Given the description of an element on the screen output the (x, y) to click on. 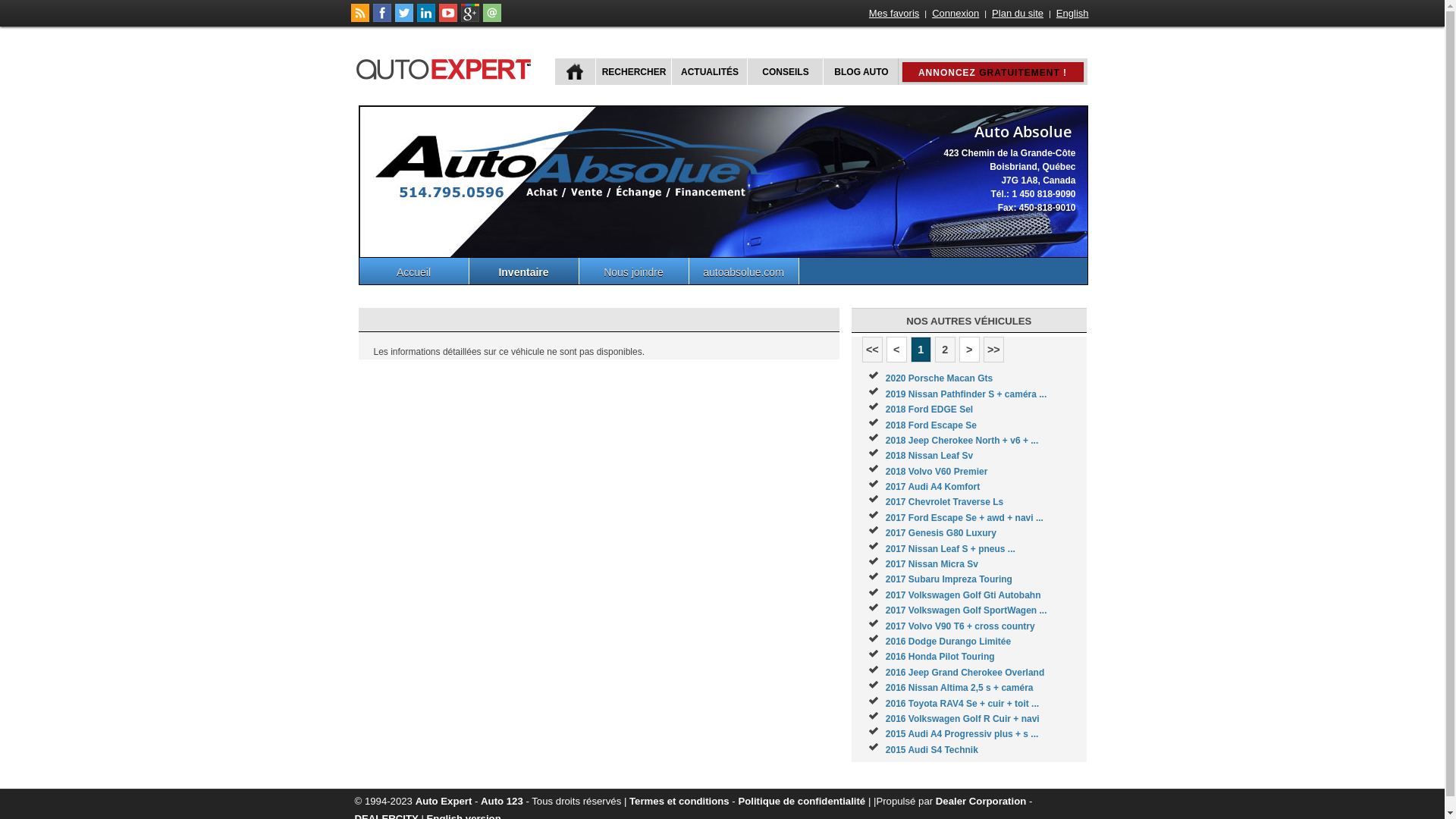
2015 Audi S4 Technik Element type: text (931, 749)
Termes et conditions Element type: text (679, 800)
Connexion Element type: text (955, 13)
2017 Subaru Impreza Touring Element type: text (948, 579)
autoabsolue.com Element type: text (743, 270)
2017 Volvo V90 T6 + cross country Element type: text (960, 626)
RECHERCHER Element type: text (631, 71)
2018 Ford EDGE Sel Element type: text (928, 409)
< Element type: text (896, 349)
Mes favoris Element type: text (893, 13)
2017 Nissan Micra Sv Element type: text (931, 563)
Auto Expert Element type: text (443, 800)
2018 Nissan Leaf Sv Element type: text (928, 455)
>> Element type: text (993, 349)
2018 Ford Escape Se Element type: text (930, 425)
2017 Volkswagen Golf SportWagen ... Element type: text (966, 610)
<< Element type: text (872, 349)
2016 Volkswagen Golf R Cuir + navi Element type: text (962, 718)
2016 Honda Pilot Touring Element type: text (939, 656)
Inventaire Element type: text (523, 270)
2 Element type: text (945, 349)
2015 Audi A4 Progressiv plus + s ... Element type: text (961, 733)
Suivez autoExpert.ca sur Google Plus Element type: hover (470, 18)
2017 Nissan Leaf S + pneus ... Element type: text (950, 548)
> Element type: text (969, 349)
Nous joindre Element type: text (634, 270)
Suivez autoExpert.ca sur Facebook Element type: hover (382, 18)
2016 Jeep Grand Cherokee Overland Element type: text (964, 672)
BLOG AUTO Element type: text (859, 71)
English Element type: text (1072, 13)
2018 Jeep Cherokee North + v6 + ... Element type: text (961, 440)
ACCUEIL Element type: text (575, 71)
2017 Genesis G80 Luxury Element type: text (940, 532)
Suivez Publications Le Guide Inc. sur LinkedIn Element type: hover (426, 18)
2016 Toyota RAV4 Se + cuir + toit ... Element type: text (961, 703)
2017 Ford Escape Se + awd + navi ... Element type: text (964, 517)
2020 Porsche Macan Gts Element type: text (938, 378)
2018 Volvo V60 Premier Element type: text (936, 471)
Dealer Corporation Element type: text (980, 800)
1 Element type: text (920, 349)
ANNONCEZ GRATUITEMENT ! Element type: text (992, 71)
2017 Volkswagen Golf Gti Autobahn Element type: text (963, 594)
Plan du site Element type: text (1017, 13)
autoExpert.ca Element type: text (446, 66)
Auto 123 Element type: text (501, 800)
CONSEILS Element type: text (783, 71)
2017 Audi A4 Komfort Element type: text (932, 486)
Accueil Element type: text (414, 270)
Joindre autoExpert.ca Element type: hover (491, 18)
Suivez autoExpert.ca sur Youtube Element type: hover (447, 18)
2017 Chevrolet Traverse Ls Element type: text (944, 501)
Suivez autoExpert.ca sur Twitter Element type: hover (403, 18)
